Given the description of an element on the screen output the (x, y) to click on. 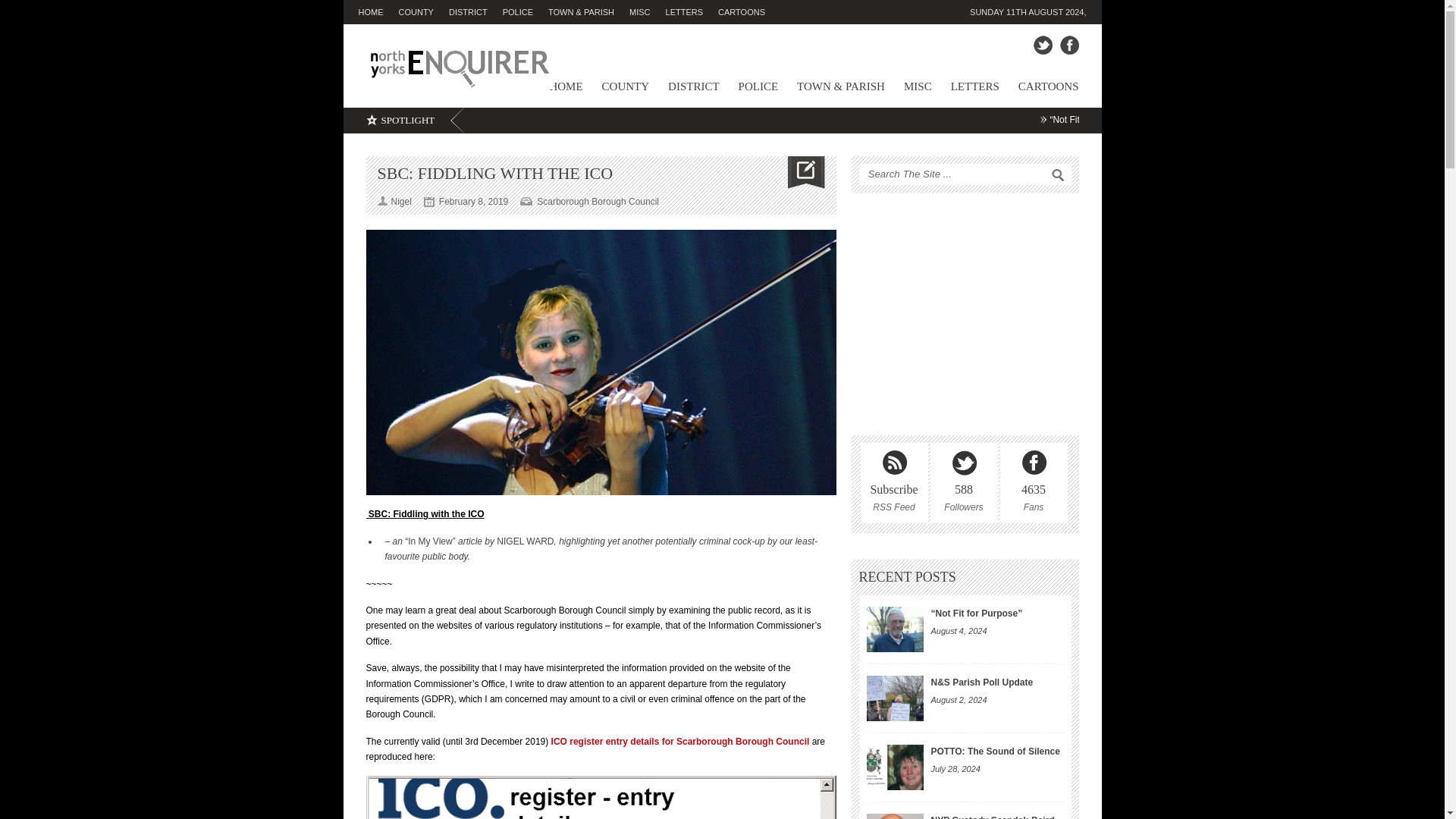
POTTO: The Sound of Silence (995, 751)
HOME (377, 12)
LETTERS (692, 12)
Search The Site ... (958, 173)
NYP Custody Scandal: Baird Report Vindicates NYE (894, 816)
DISTRICT (475, 12)
POTTO: The Sound of Silence (894, 767)
NYP Custody Scandal: Baird Report Vindicates NYE (992, 816)
Posts by Nigel (401, 201)
COUNTY (423, 12)
